Given the description of an element on the screen output the (x, y) to click on. 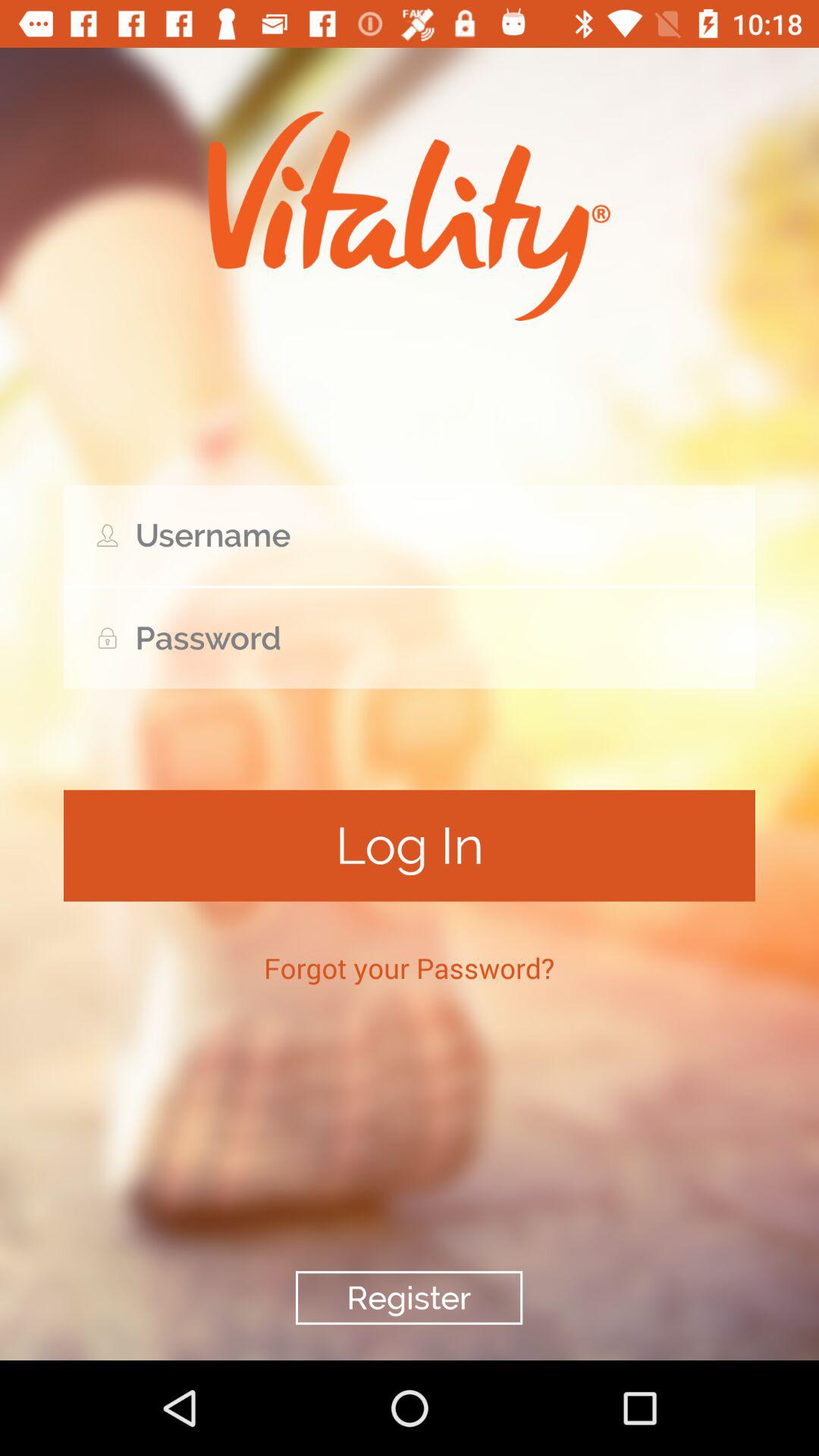
press forgot your password? (408, 967)
